Given the description of an element on the screen output the (x, y) to click on. 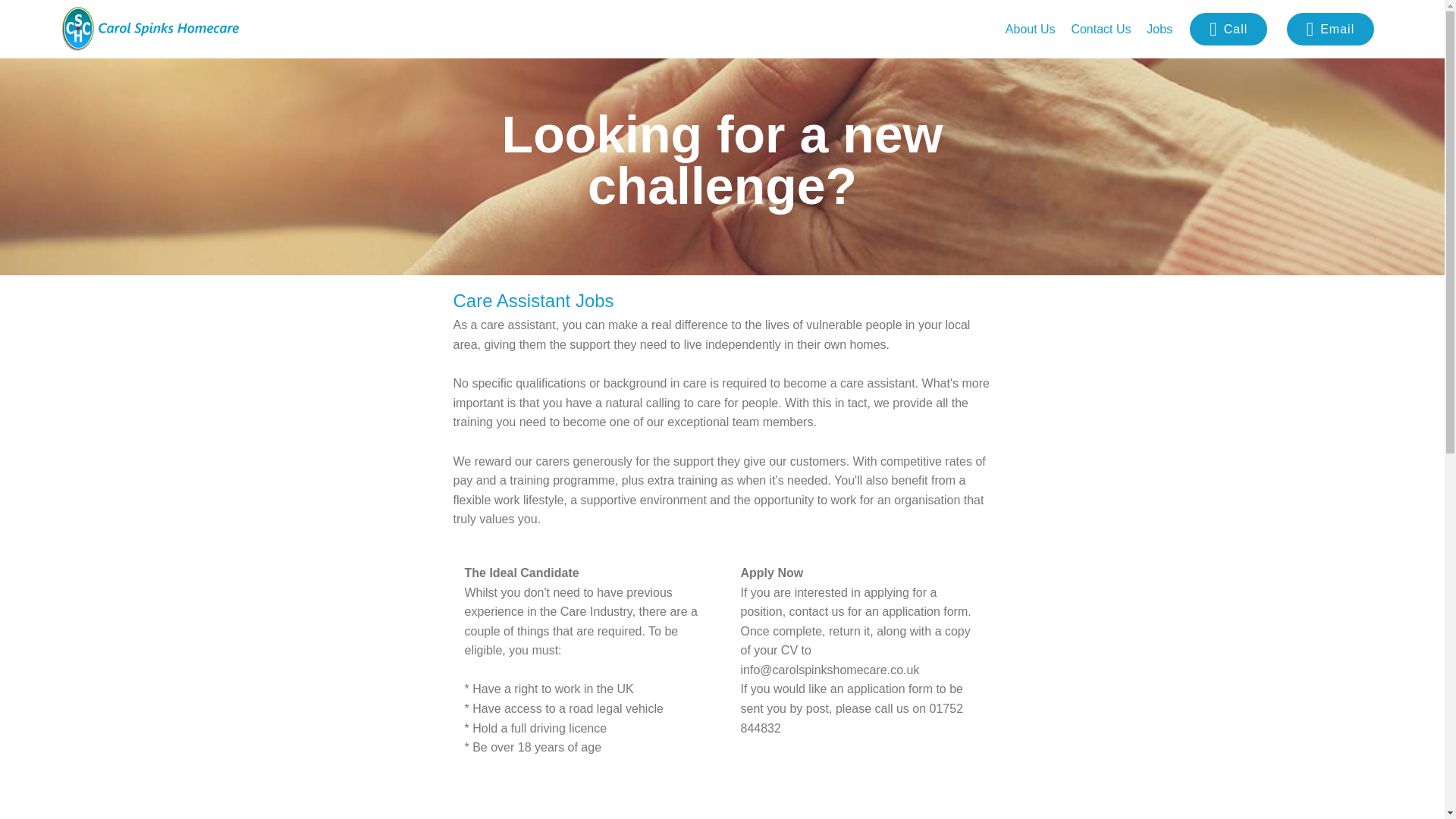
About Us (1030, 28)
Call (1227, 29)
Contact Us (1100, 28)
Email (1330, 29)
Jobs (1159, 28)
